Given the description of an element on the screen output the (x, y) to click on. 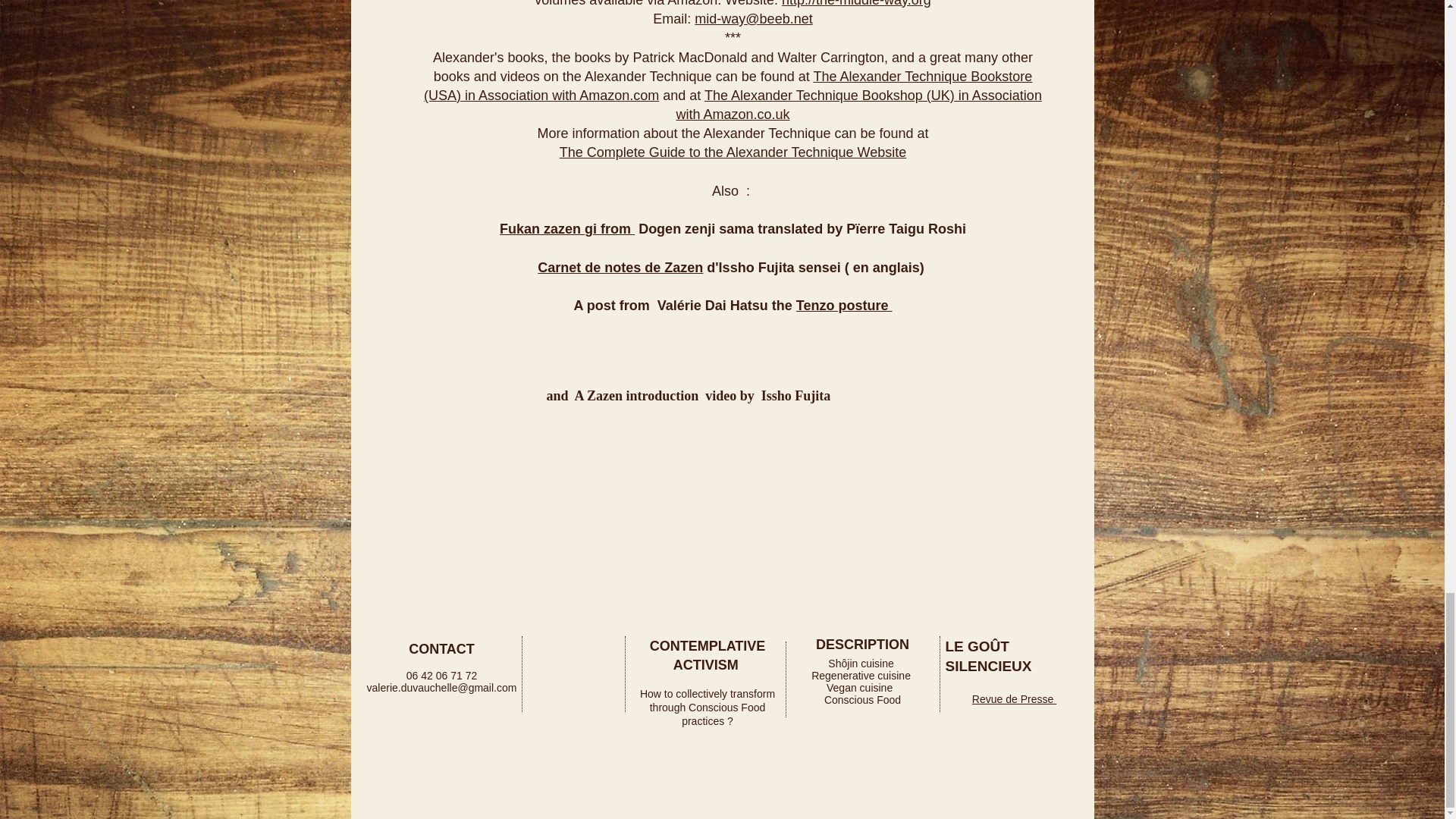
Tenzo posture  (844, 305)
Carnet de notes de Zazen (620, 267)
Fukan zazen gi from  (566, 228)
The Complete Guide to the Alexander Technique Website (733, 151)
Revue de Presse  (1014, 698)
